Given the description of an element on the screen output the (x, y) to click on. 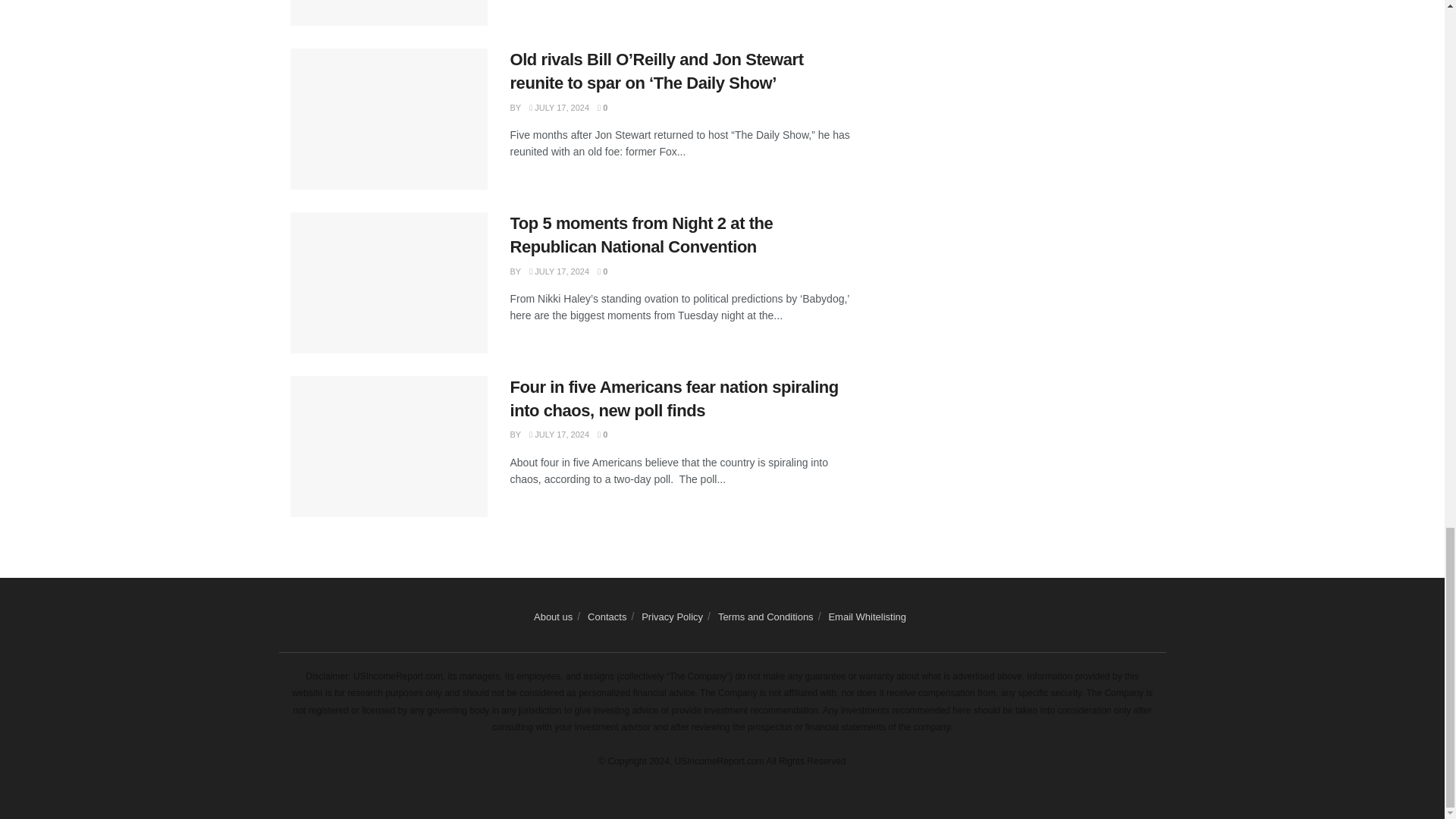
0 (601, 107)
0 (601, 271)
JULY 17, 2024 (559, 107)
JULY 17, 2024 (559, 271)
